Given the description of an element on the screen output the (x, y) to click on. 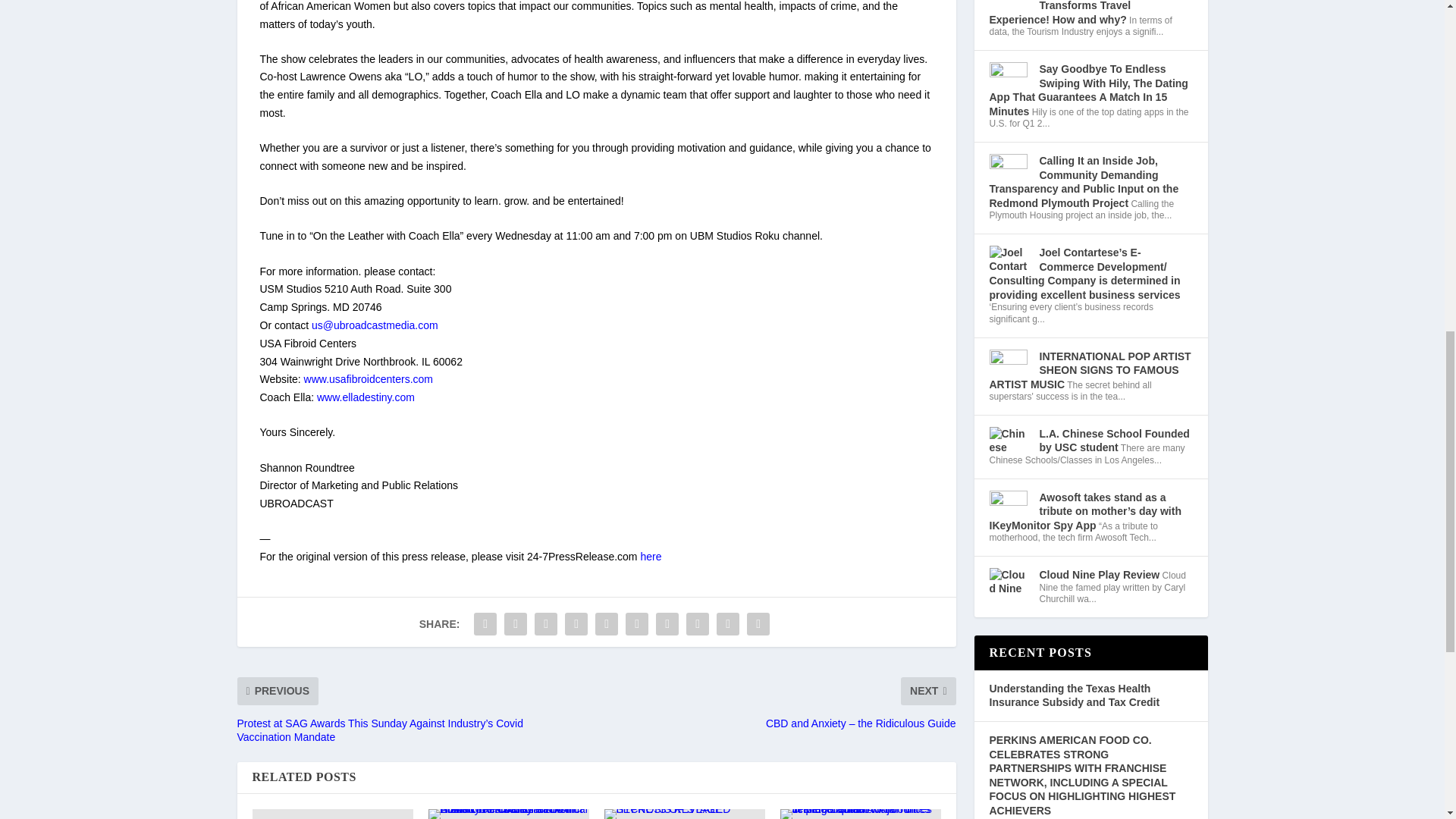
www.usafibroidcenters.com (368, 378)
www.elladestiny.com (365, 397)
here (650, 556)
SECRETS OF STAGE HYPNOSIS REVEALED (684, 814)
